Given the description of an element on the screen output the (x, y) to click on. 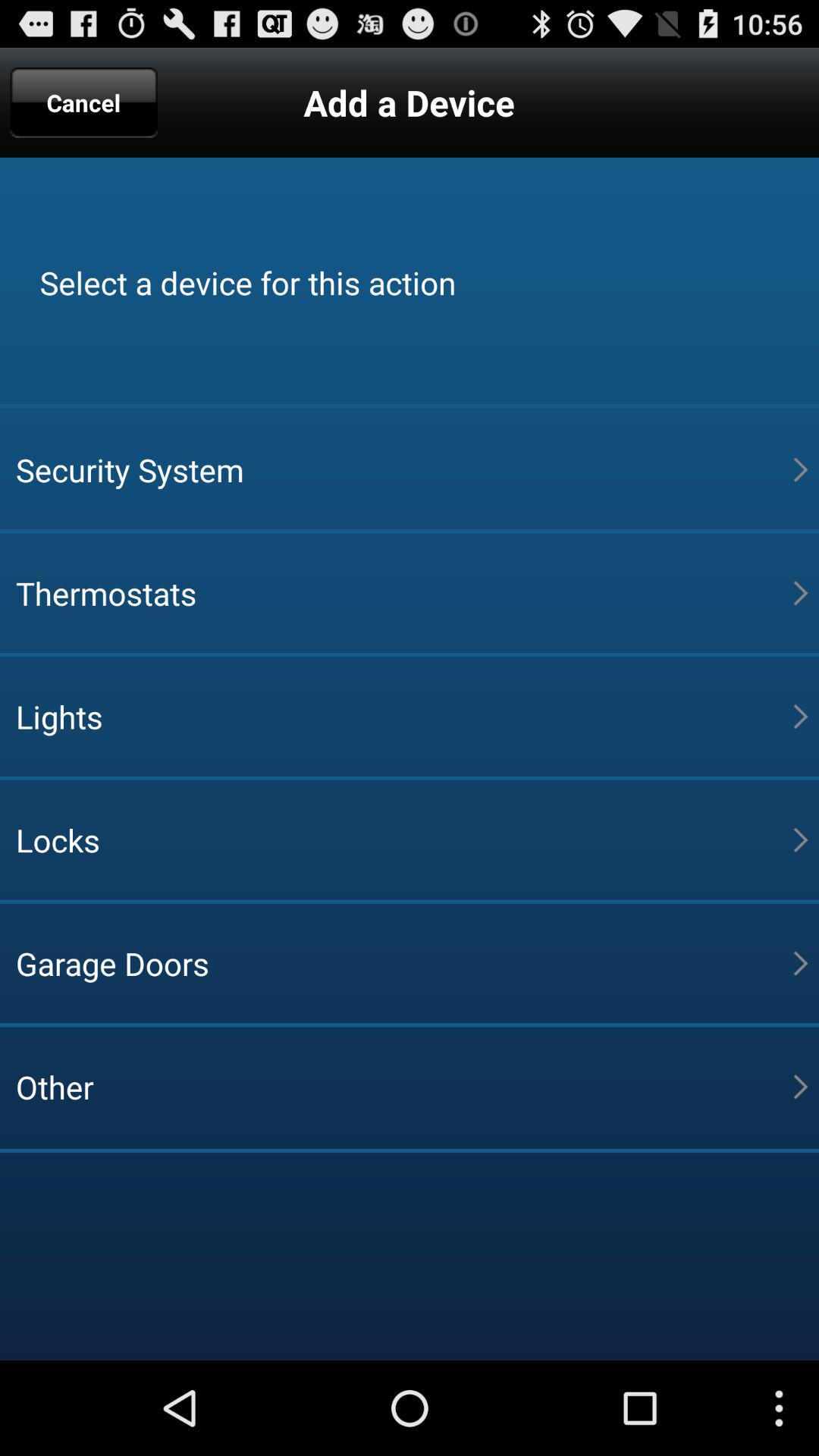
tap thermostats item (403, 592)
